Given the description of an element on the screen output the (x, y) to click on. 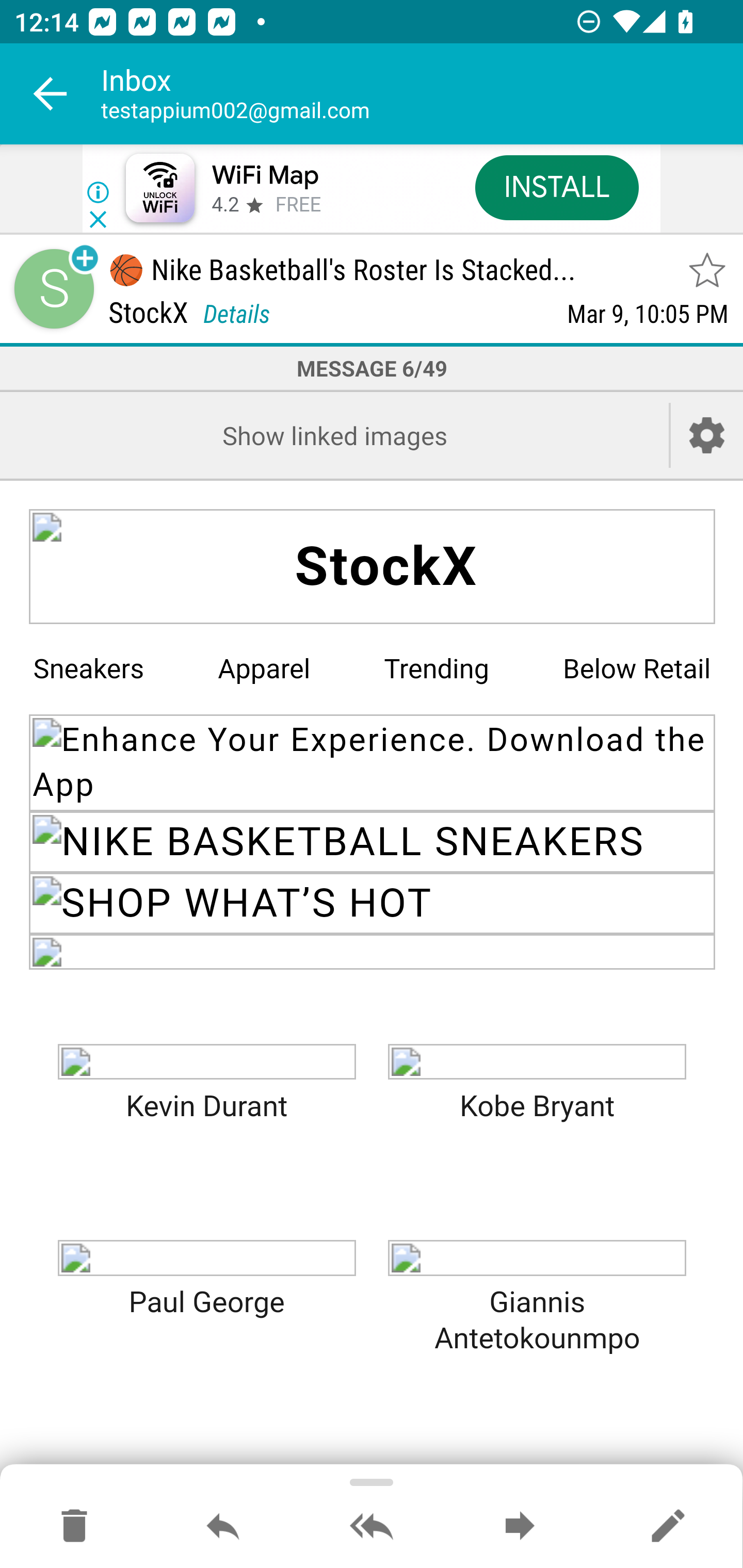
Navigate up (50, 93)
Inbox testappium002@gmail.com (422, 93)
INSTALL (556, 187)
WiFi Map (265, 175)
Sender contact button (53, 289)
Show linked images (334, 435)
Account setup (706, 435)
StockX (372, 567)
Sneakers (88, 668)
Apparel (264, 668)
Trending (436, 668)
Below Retail (636, 668)
Enhance Your Experience. Download the App (372, 762)
NIKE BASKETBALL SNEAKERS (372, 841)
SHOP WHAT’S HOT (372, 902)
click?upn=u001 (372, 951)
click?upn=u001 (206, 1061)
click?upn=u001 (537, 1061)
click?upn=u001 (206, 1257)
click?upn=u001 (537, 1257)
Move to Deleted (74, 1527)
Reply (222, 1527)
Reply all (371, 1527)
Forward (519, 1527)
Reply as new (667, 1527)
